Given the description of an element on the screen output the (x, y) to click on. 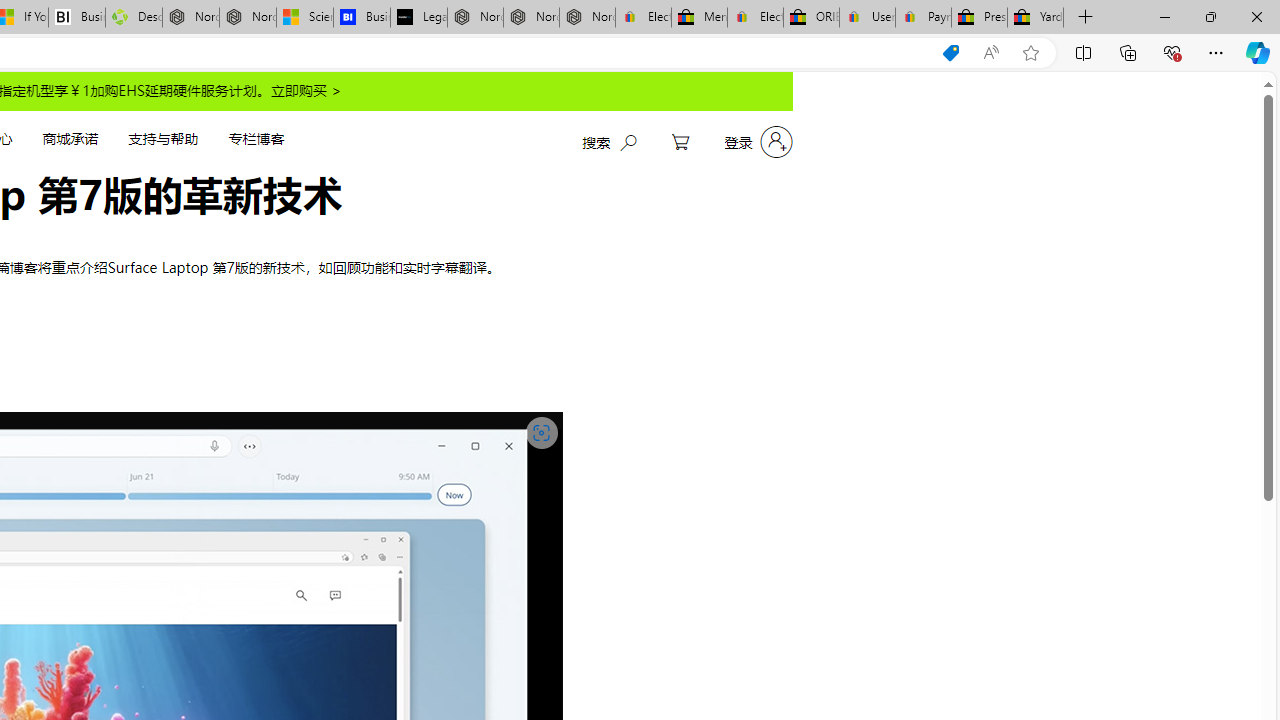
My Cart (679, 142)
Descarga Driver Updater (134, 17)
Payments Terms of Use | eBay.com (923, 17)
Nordace - Summer Adventures 2024 (190, 17)
Press Room - eBay Inc. (979, 17)
